Given the description of an element on the screen output the (x, y) to click on. 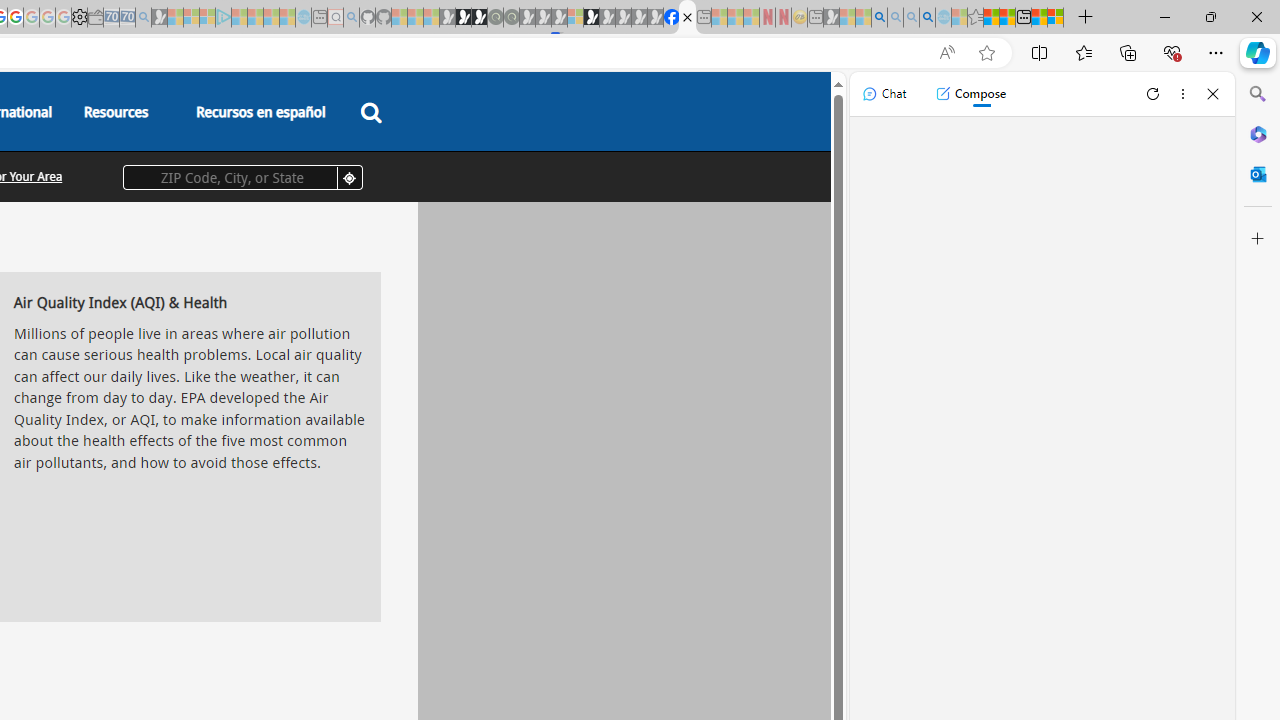
Class: main-link dropbtn-nav-link (260, 111)
github - Search - Sleeping (351, 17)
MSN - Sleeping (831, 17)
